Given the description of an element on the screen output the (x, y) to click on. 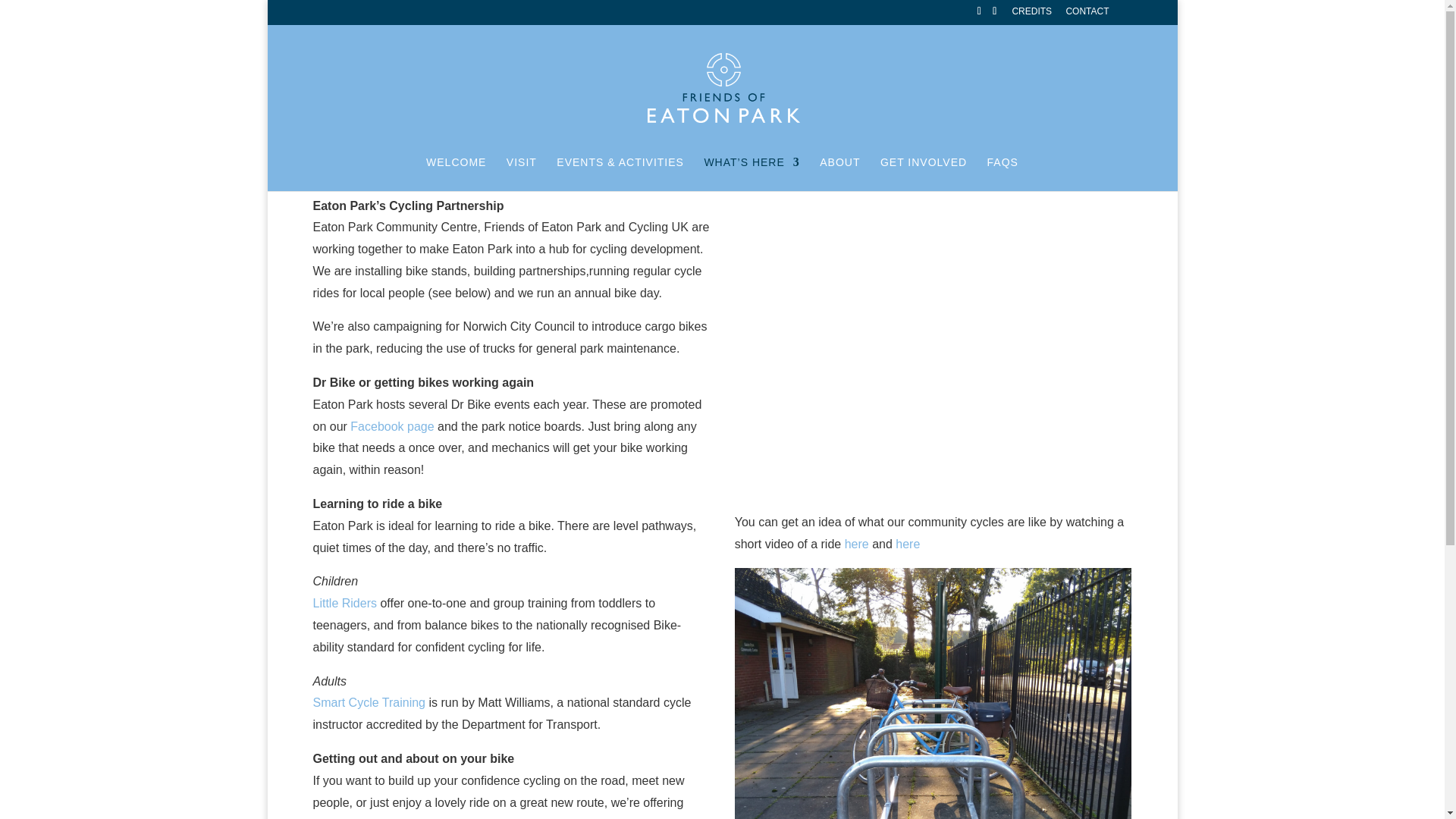
here (856, 543)
CREDITS (1031, 14)
FAQS (1002, 173)
Smart Cycle Training (369, 702)
CONTACT (1086, 14)
Little Riders (344, 603)
ABOUT (839, 173)
here (907, 543)
VISIT (521, 173)
WELCOME (456, 173)
GET INVOLVED (923, 173)
Facebook page (391, 426)
